Given the description of an element on the screen output the (x, y) to click on. 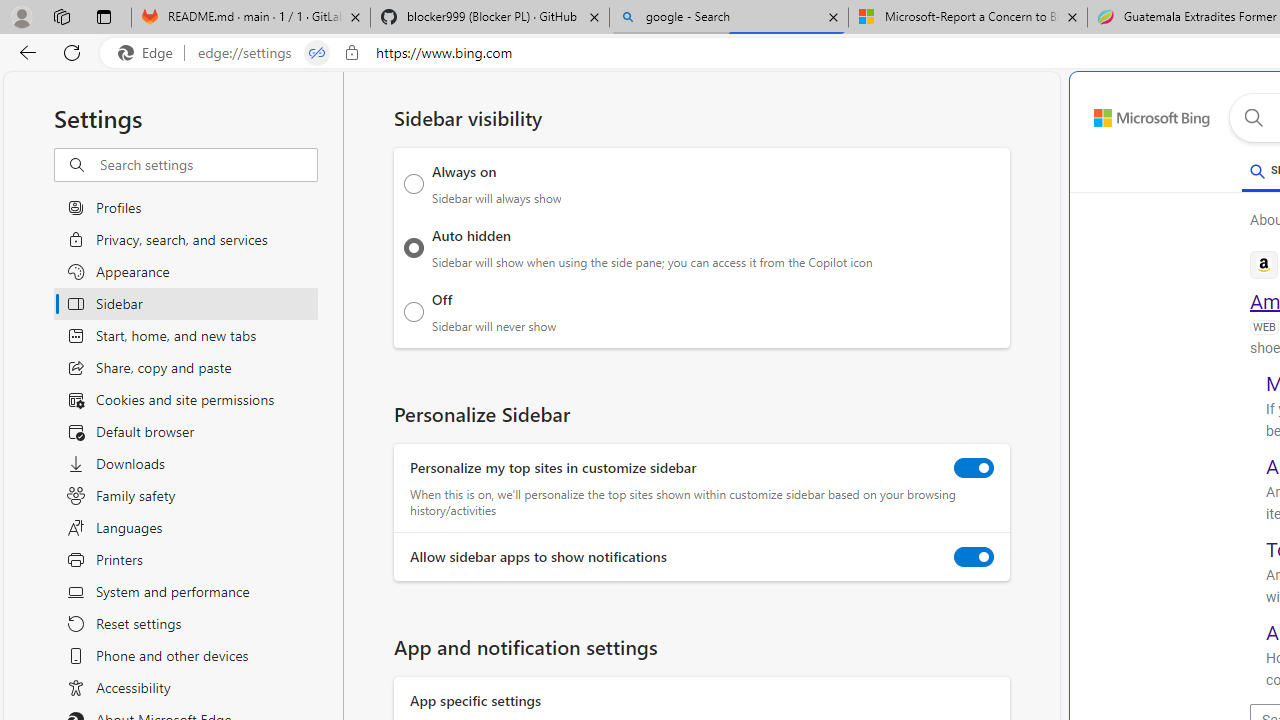
Allow sidebar apps to show notifications (973, 557)
Search button (1253, 117)
Tabs in split screen (317, 53)
Back to Bing search (1139, 113)
Search settings (207, 165)
Edge (150, 53)
